Given the description of an element on the screen output the (x, y) to click on. 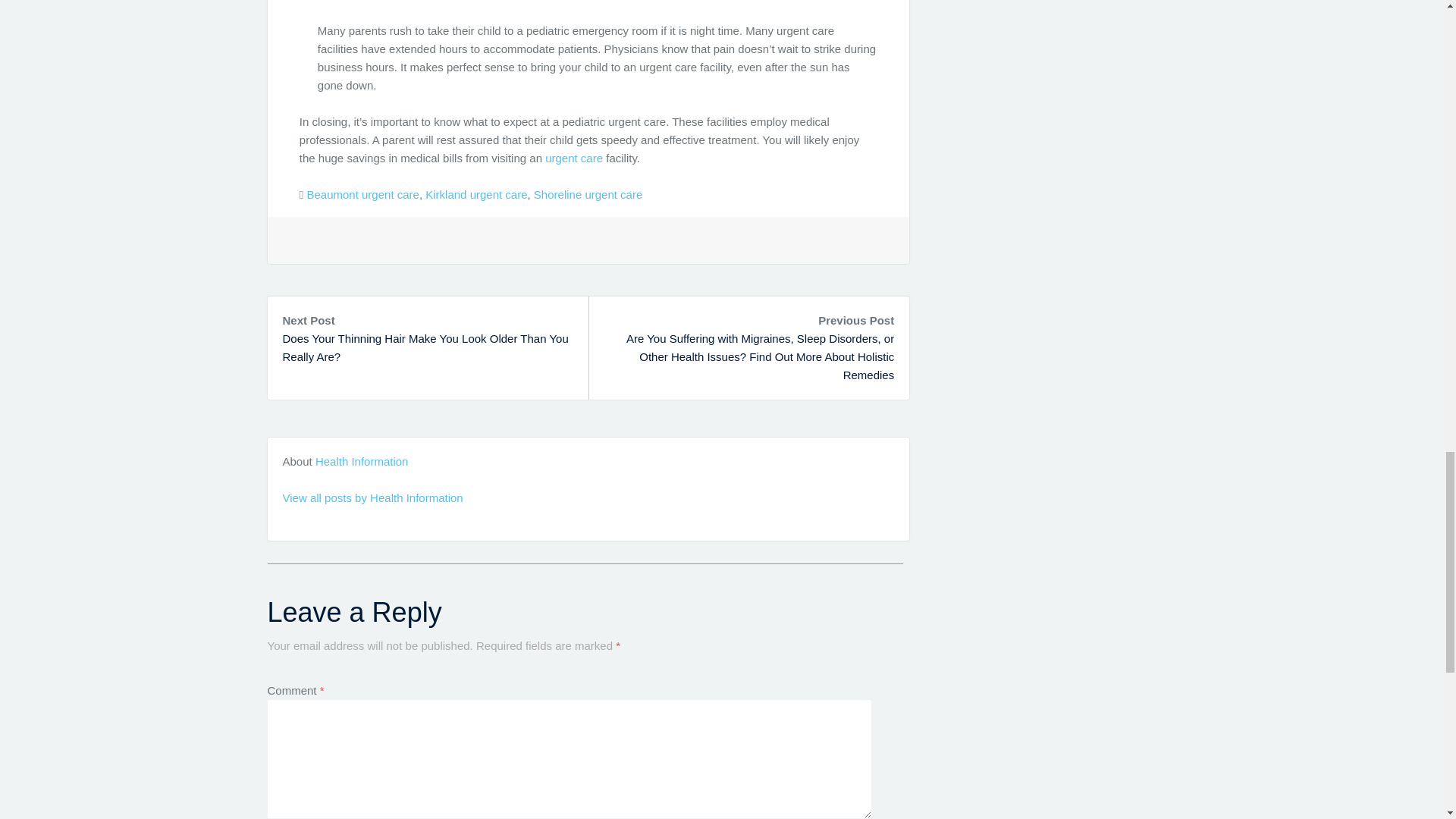
View all posts by Health Information (372, 497)
Shoreline urgent care (588, 194)
Kirkland urgent care (476, 194)
Health Information (362, 461)
Beaumont urgent care (362, 194)
urgent care (573, 157)
Clinic (573, 157)
